Given the description of an element on the screen output the (x, y) to click on. 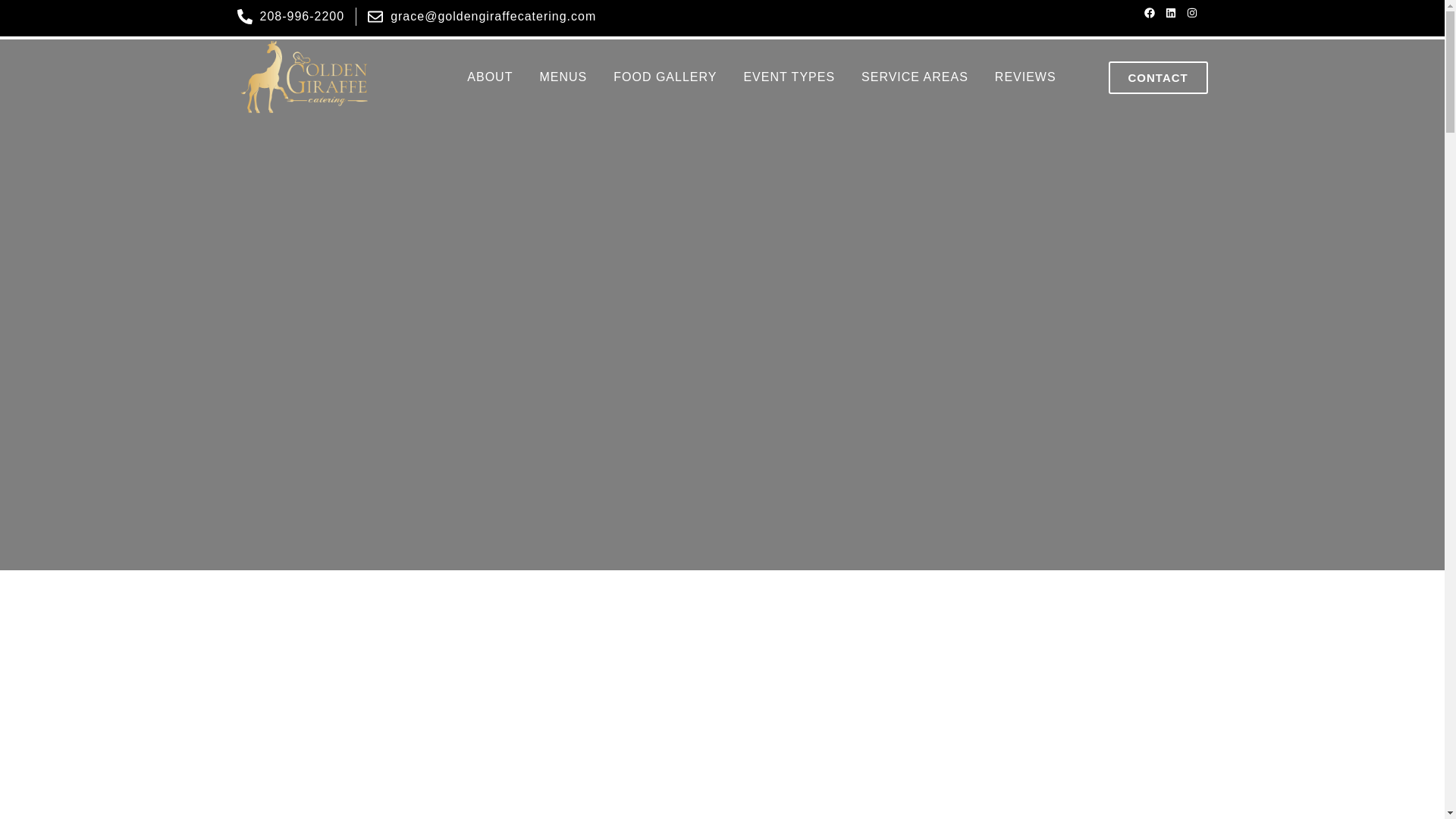
EVENT TYPES (788, 77)
ABOUT (489, 77)
SERVICE AREAS (914, 77)
MENUS (562, 77)
CONTACT (1158, 76)
208-996-2200 (289, 16)
FOOD GALLERY (664, 77)
REVIEWS (1025, 77)
